Given the description of an element on the screen output the (x, y) to click on. 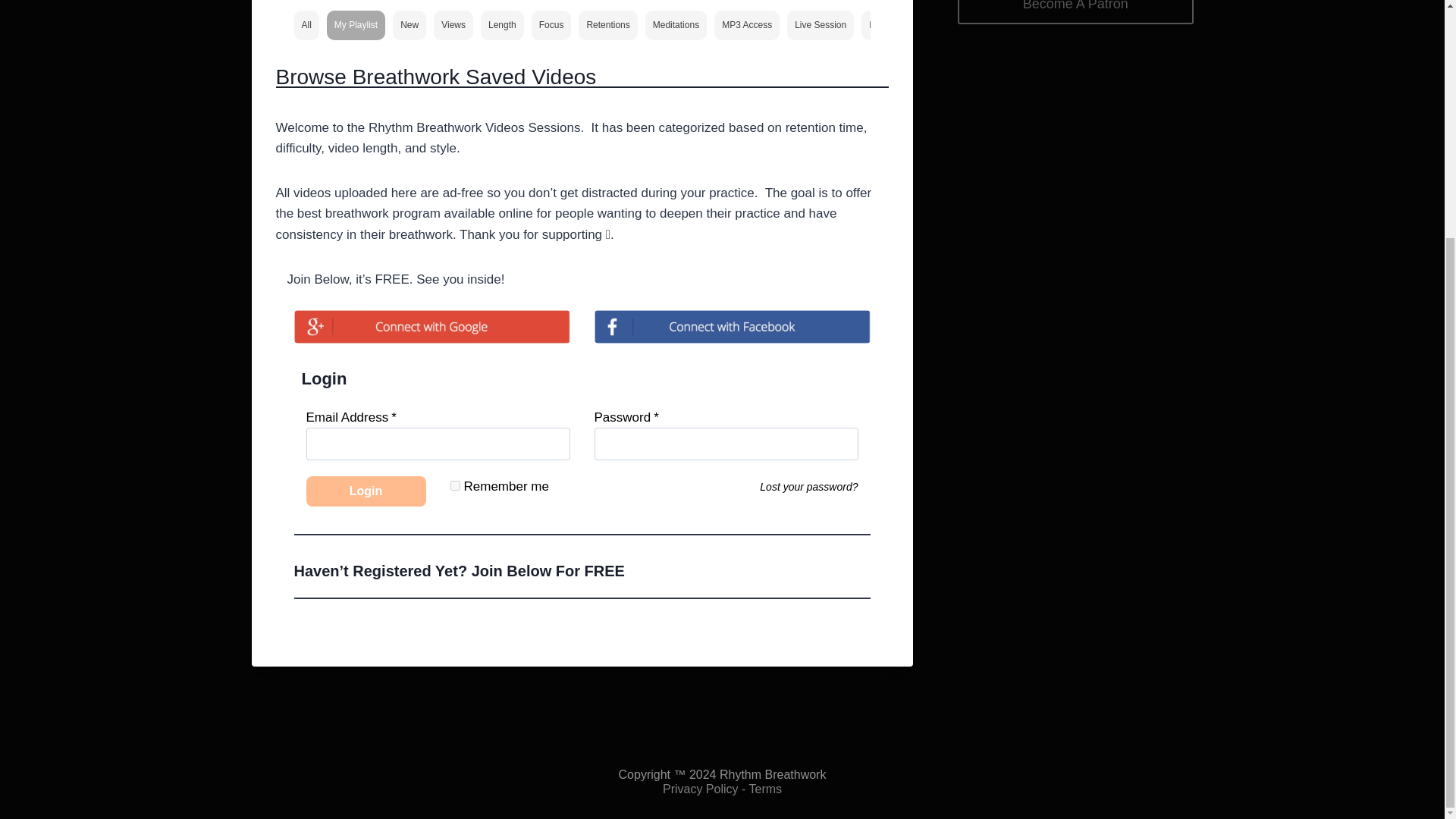
Login (365, 490)
My Playlist (355, 24)
MP3 Access (746, 24)
Lost your password? (808, 486)
Gift Program (1031, 24)
Personal Breathwork Coach (925, 24)
on (454, 485)
Views (453, 24)
All (306, 24)
New (409, 24)
